Given the description of an element on the screen output the (x, y) to click on. 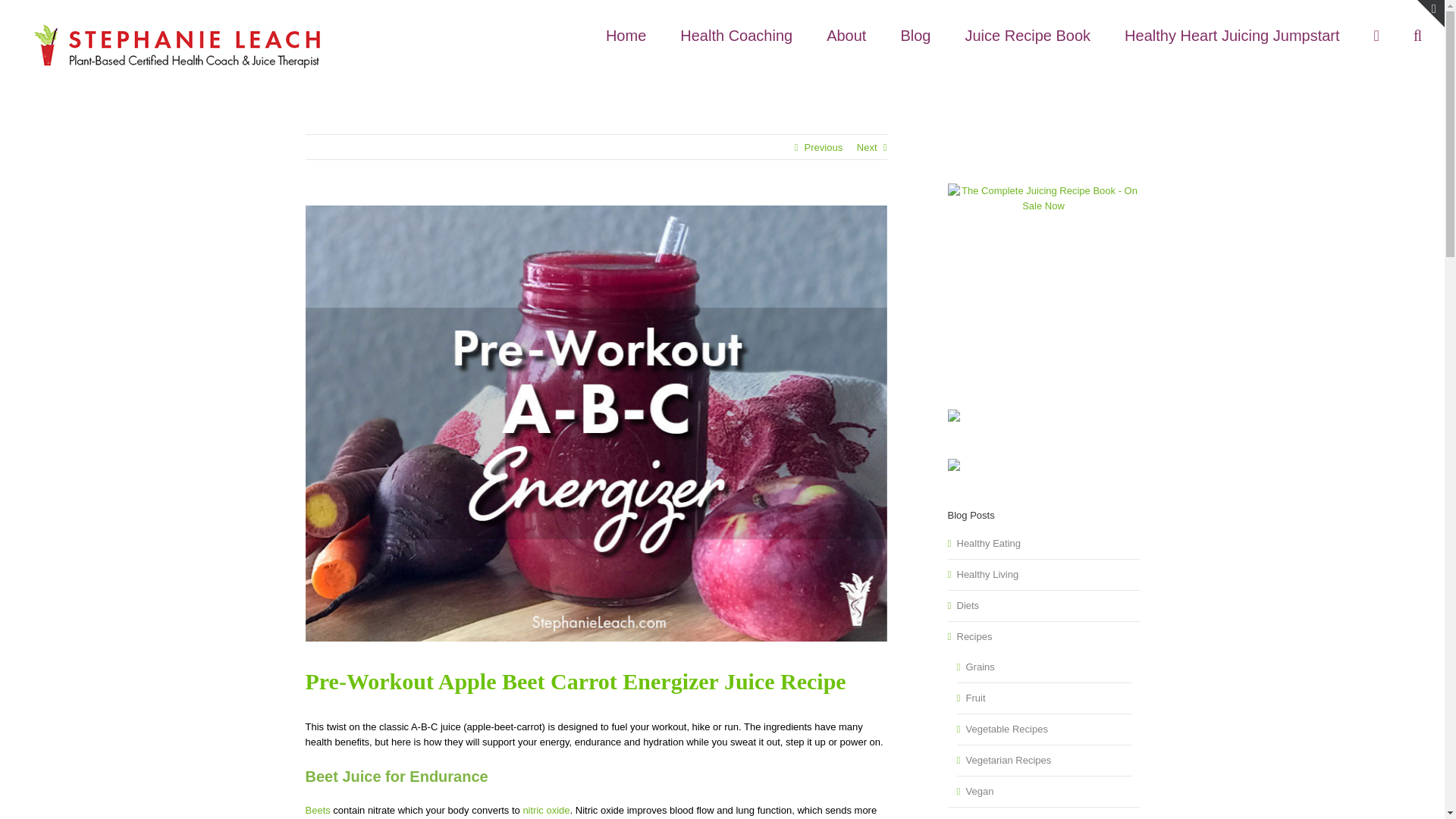
Juice Recipe Book (1026, 31)
nitric oxide (545, 809)
Health Coaching (735, 31)
Previous (824, 147)
Healthy Heart Juicing Jumpstart (1231, 31)
Beets (317, 809)
